Given the description of an element on the screen output the (x, y) to click on. 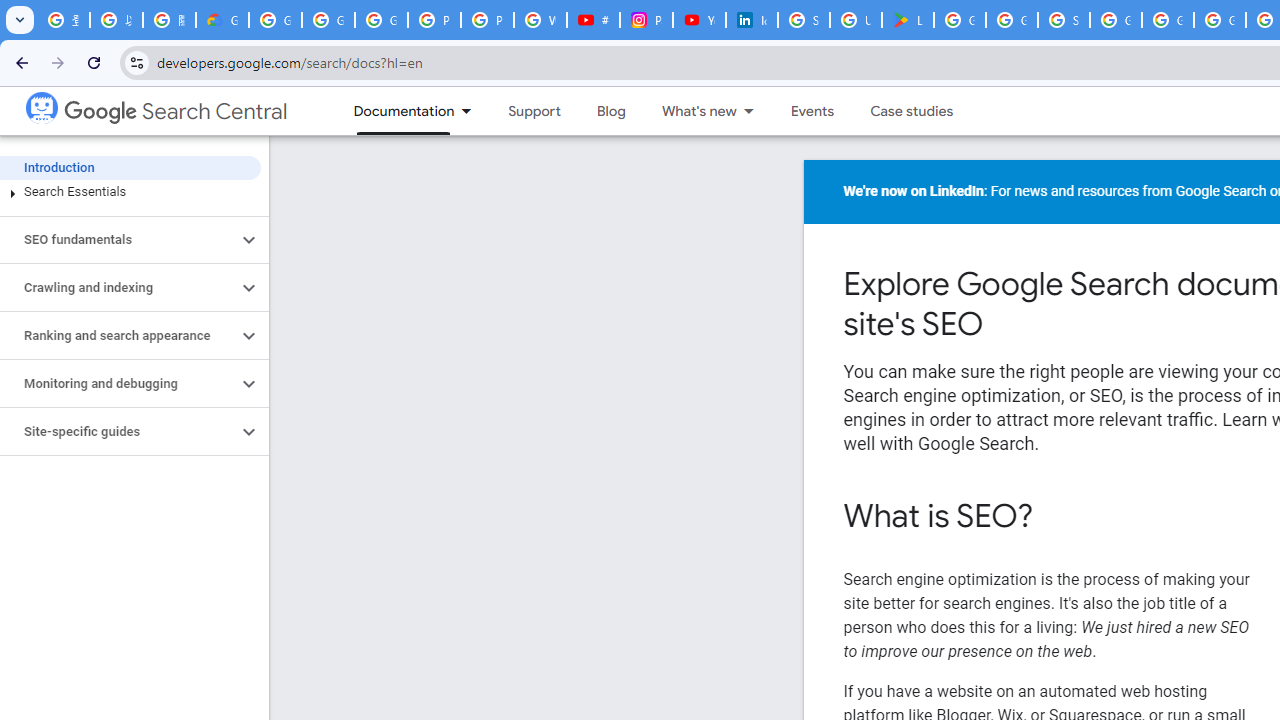
Copy link to this section: What is SEO?  (1060, 518)
Google Cloud Platform (1167, 20)
Google Search Central (41, 106)
Ranking and search appearance (118, 335)
What's new (689, 111)
Blog (610, 111)
